Given the description of an element on the screen output the (x, y) to click on. 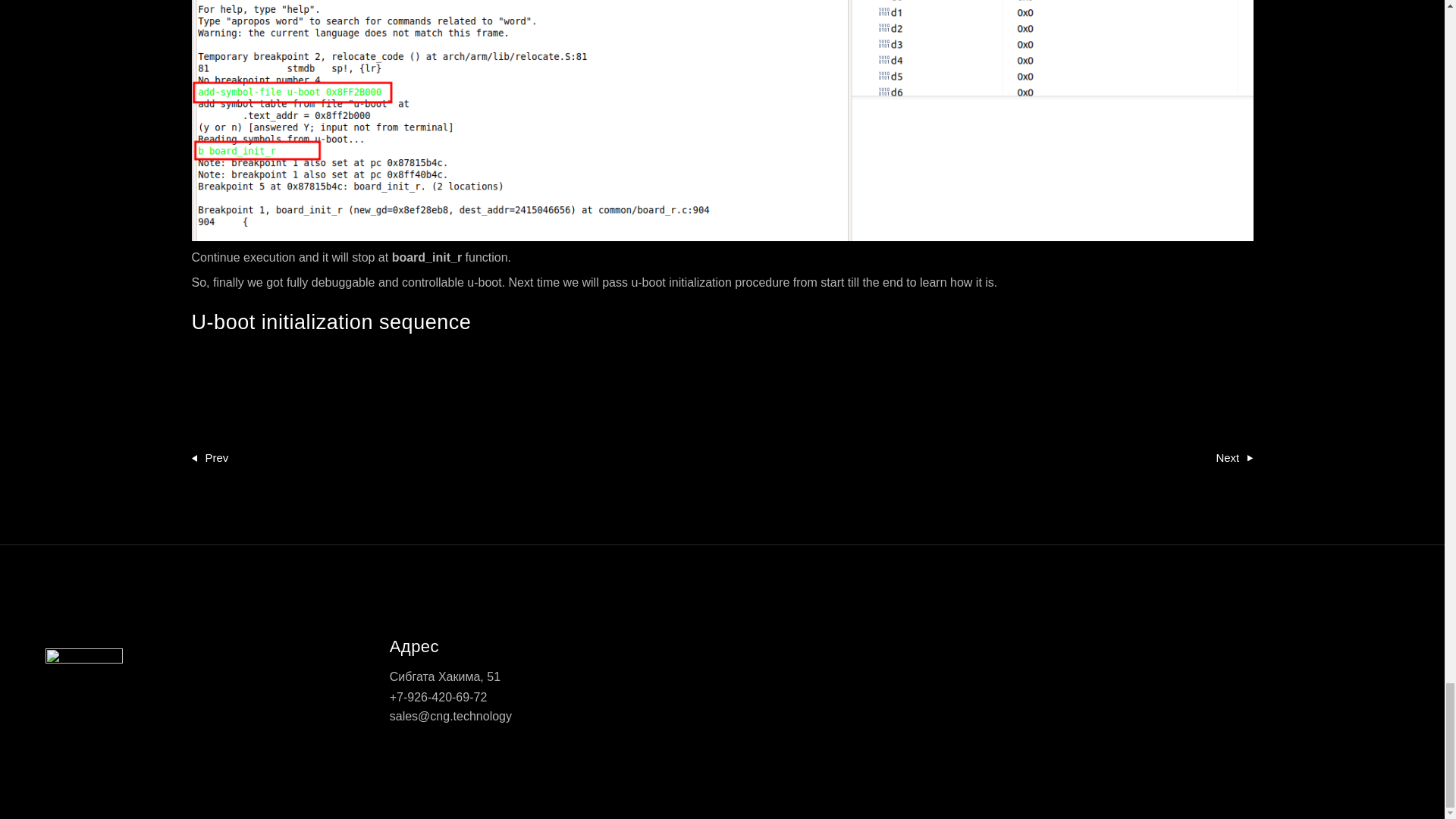
Prev (209, 457)
Next (1233, 457)
